Given the description of an element on the screen output the (x, y) to click on. 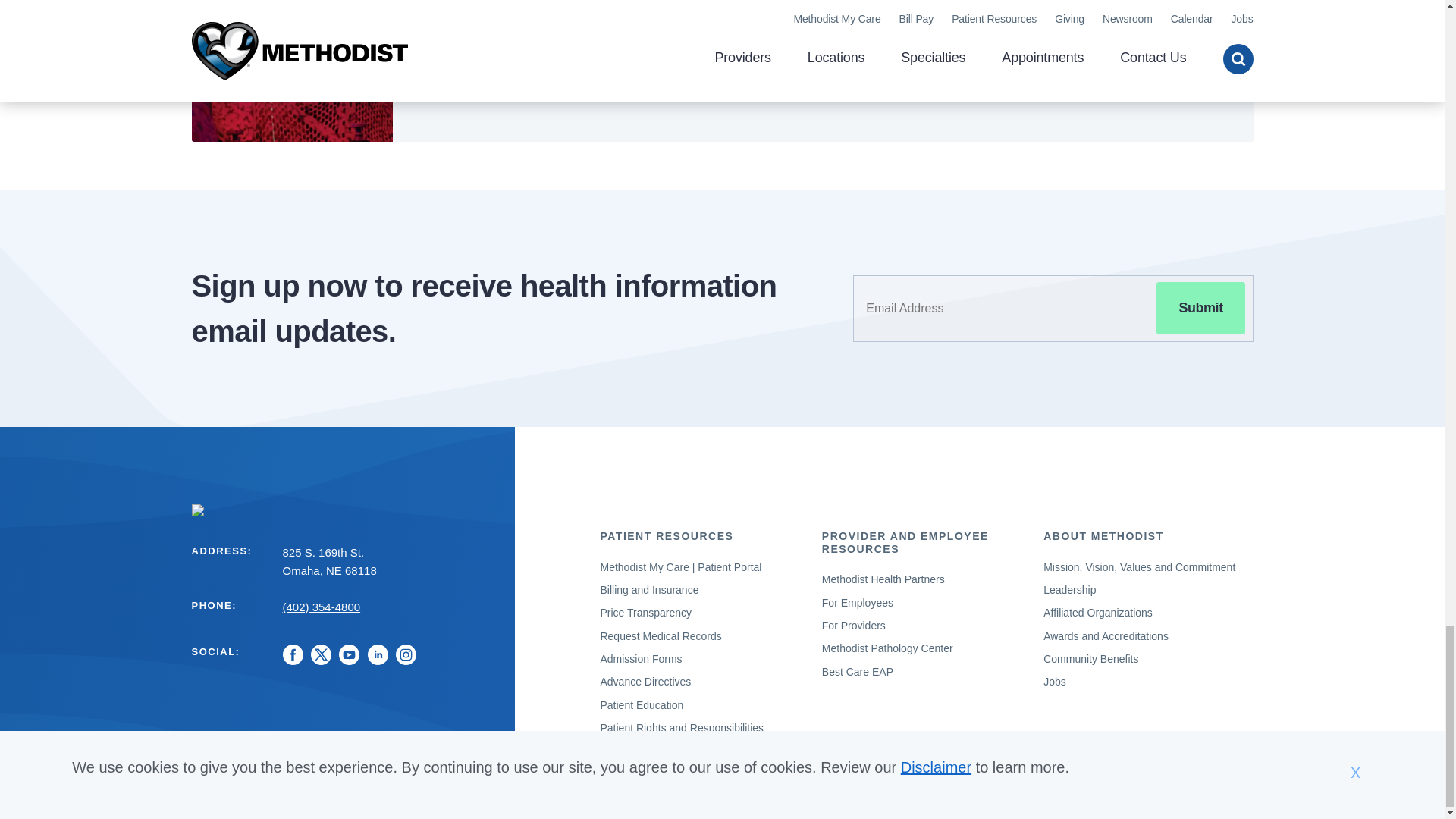
Submit (1200, 307)
Check Out the Magazine (506, 59)
Methodist Health System (343, 509)
Home (343, 509)
